Given the description of an element on the screen output the (x, y) to click on. 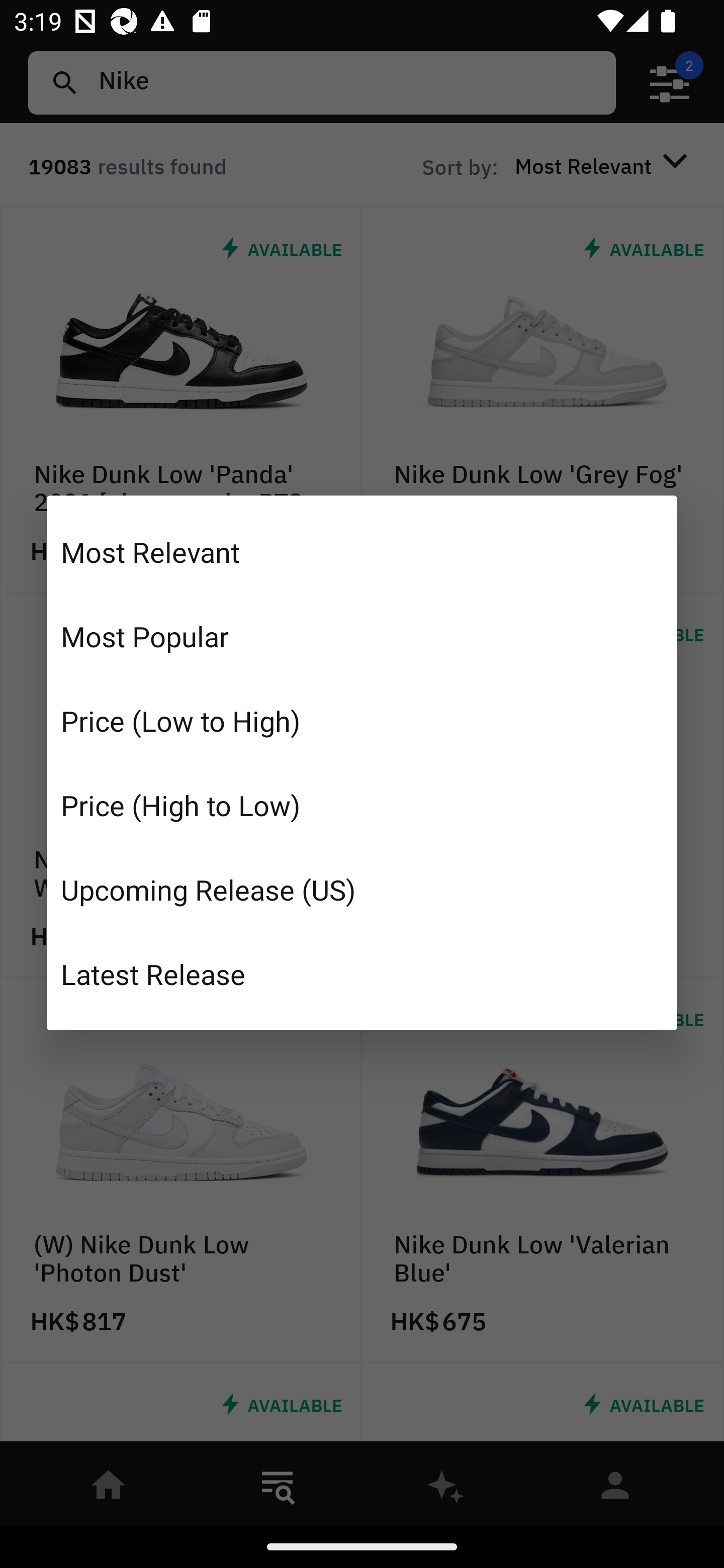
Most Relevant (361, 551)
Most Popular (361, 636)
Price (Low to High) (361, 720)
Price (High to Low) (361, 804)
Upcoming Release (US) (361, 888)
Latest Release (361, 973)
